Given the description of an element on the screen output the (x, y) to click on. 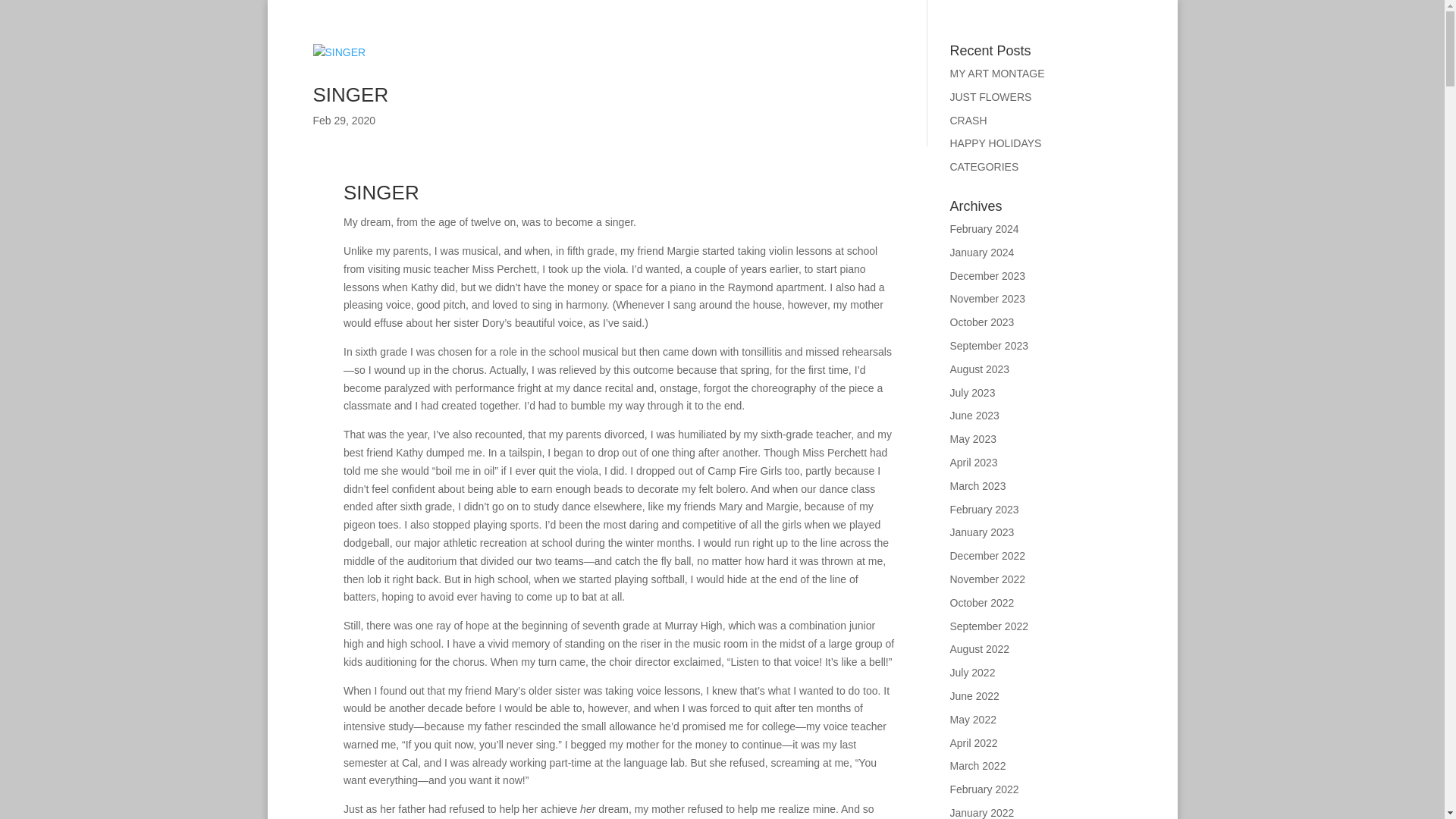
March 2023 (977, 485)
August 2023 (979, 369)
November 2022 (987, 579)
October 2023 (981, 322)
CATEGORIES (983, 166)
JUST FLOWERS (989, 96)
April 2023 (973, 462)
January 2023 (981, 532)
May 2023 (972, 439)
February 2023 (983, 509)
